Given the description of an element on the screen output the (x, y) to click on. 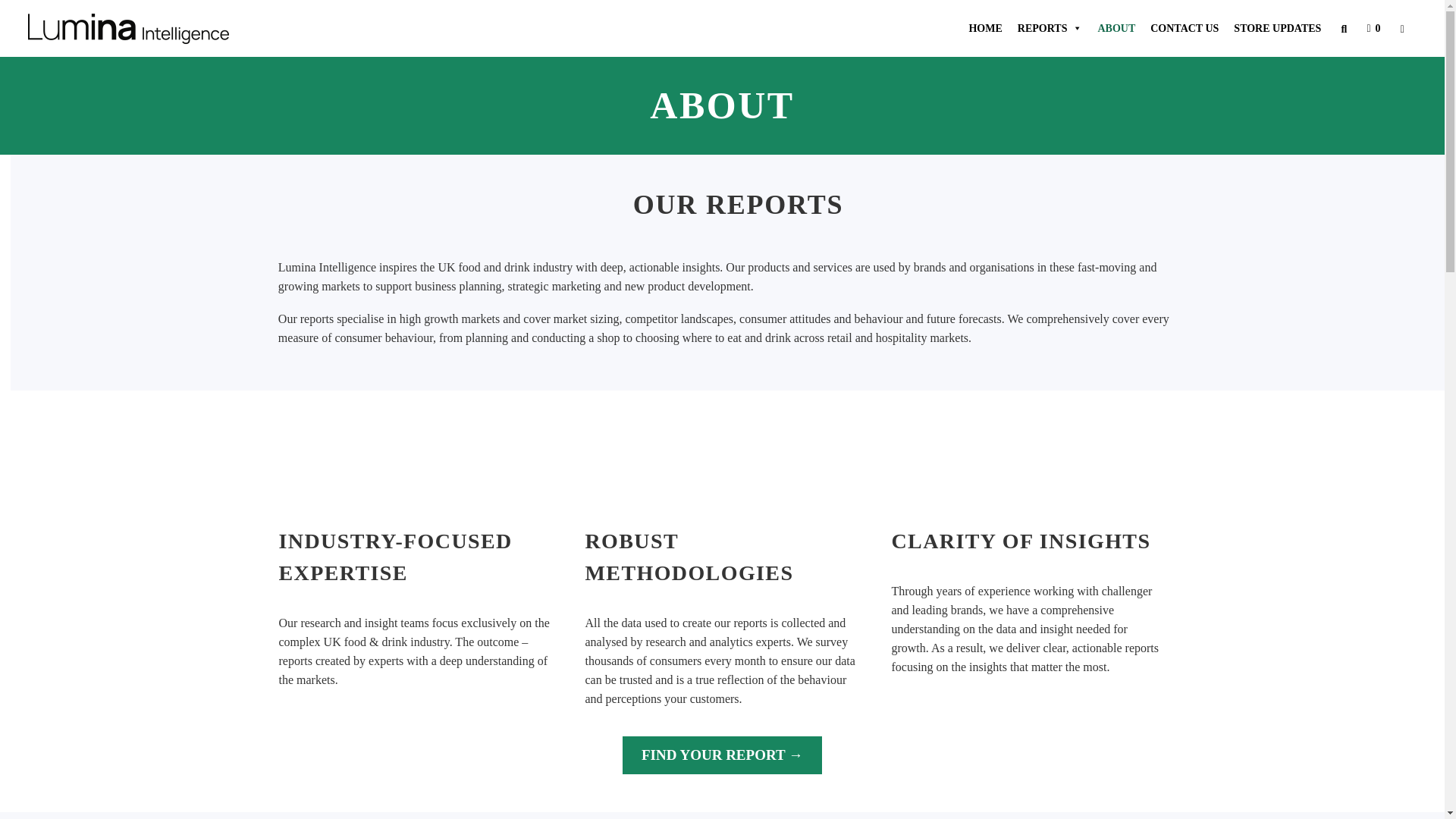
REPORTS (1050, 28)
Search (15, 15)
ABOUT (1115, 28)
CONTACT US (1183, 28)
STORE UPDATES (1276, 28)
